Given the description of an element on the screen output the (x, y) to click on. 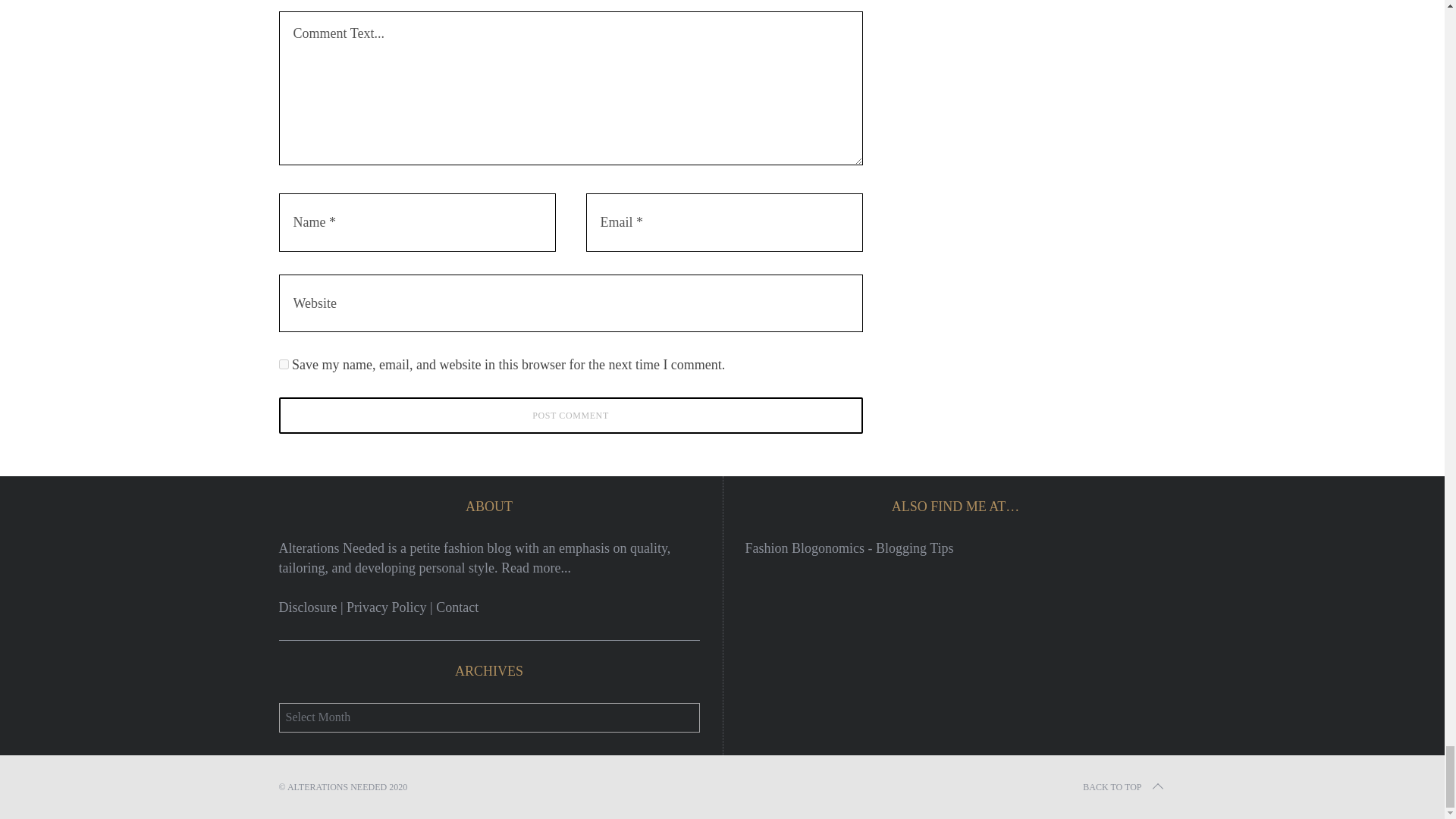
Post Comment (571, 415)
yes (283, 364)
